Given the description of an element on the screen output the (x, y) to click on. 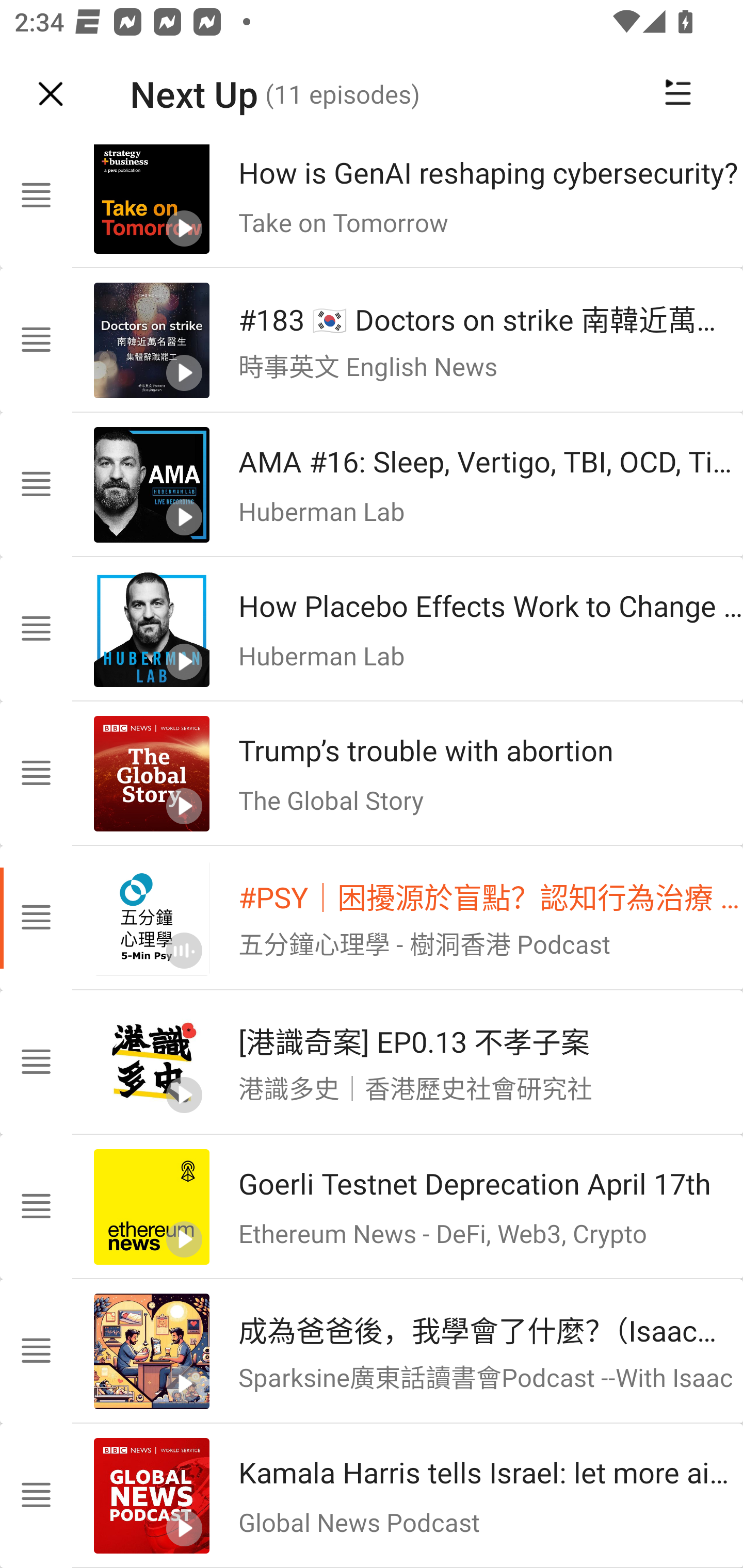
Navigate up (50, 93)
